Given the description of an element on the screen output the (x, y) to click on. 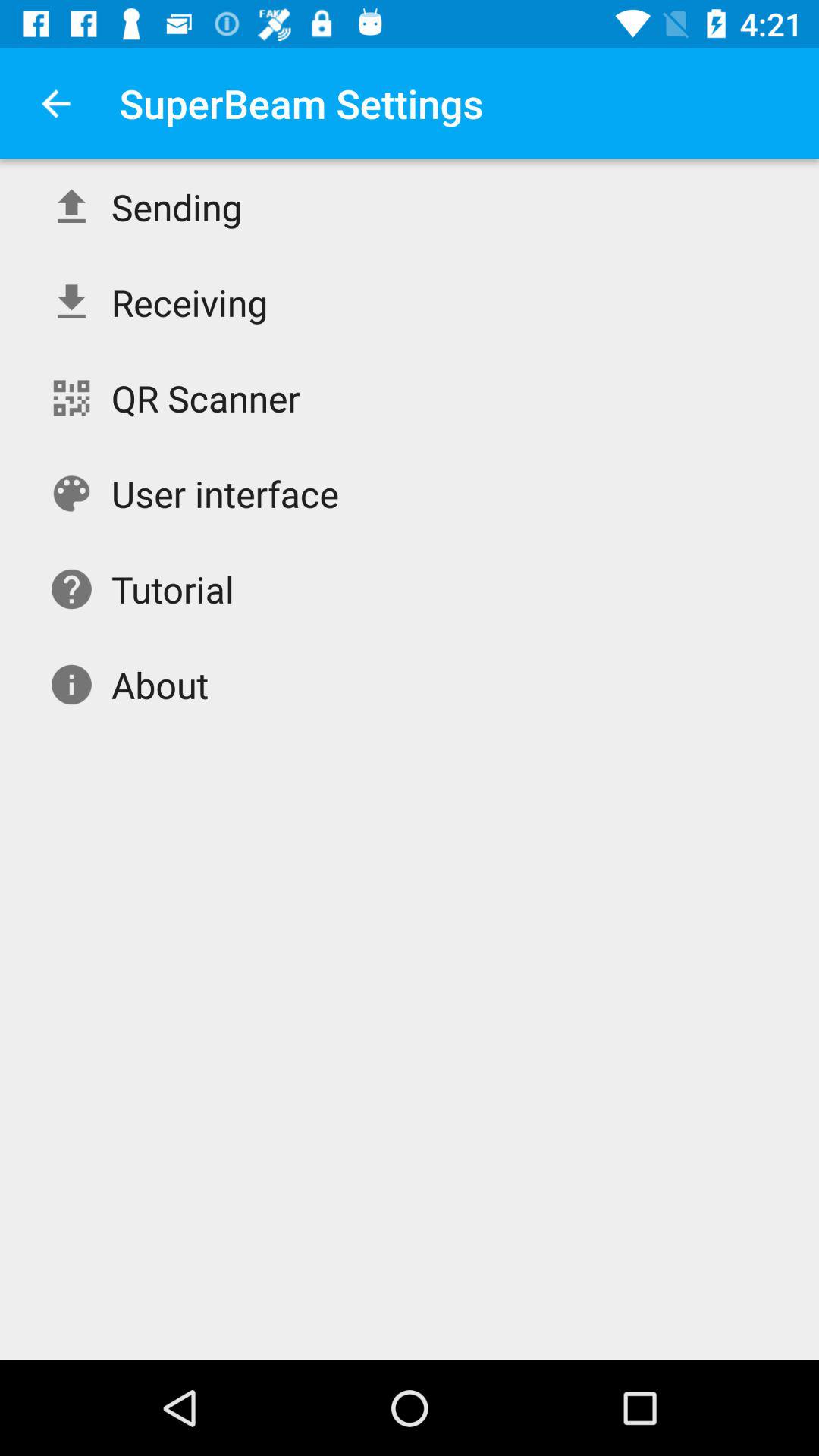
click icon above receiving app (176, 206)
